Given the description of an element on the screen output the (x, y) to click on. 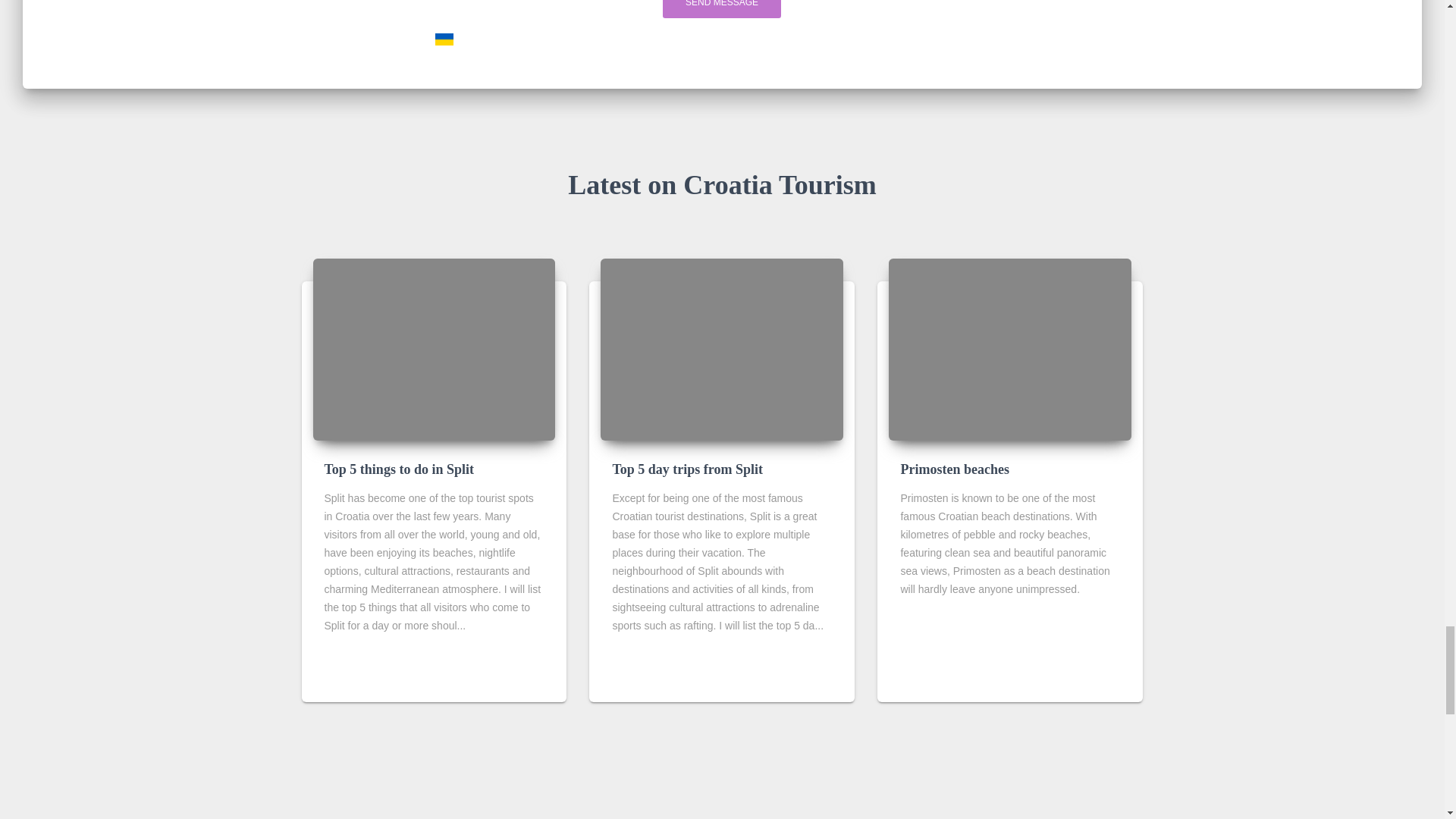
Beach Raduca is loved by visitors (1009, 349)
Zlatni Rat (721, 349)
Split is beautiful (433, 349)
